Given the description of an element on the screen output the (x, y) to click on. 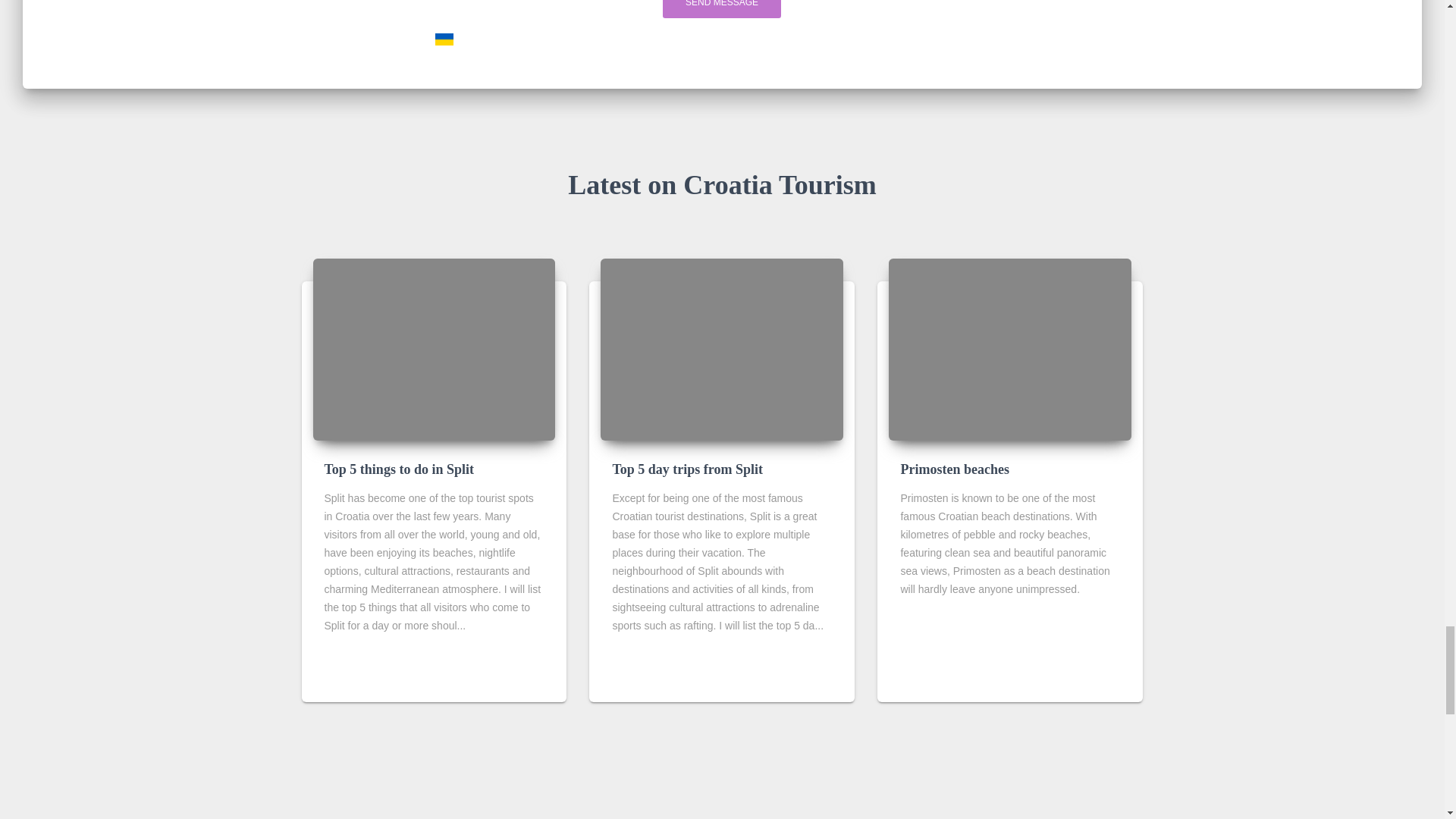
Beach Raduca is loved by visitors (1009, 349)
Zlatni Rat (721, 349)
Split is beautiful (433, 349)
